Given the description of an element on the screen output the (x, y) to click on. 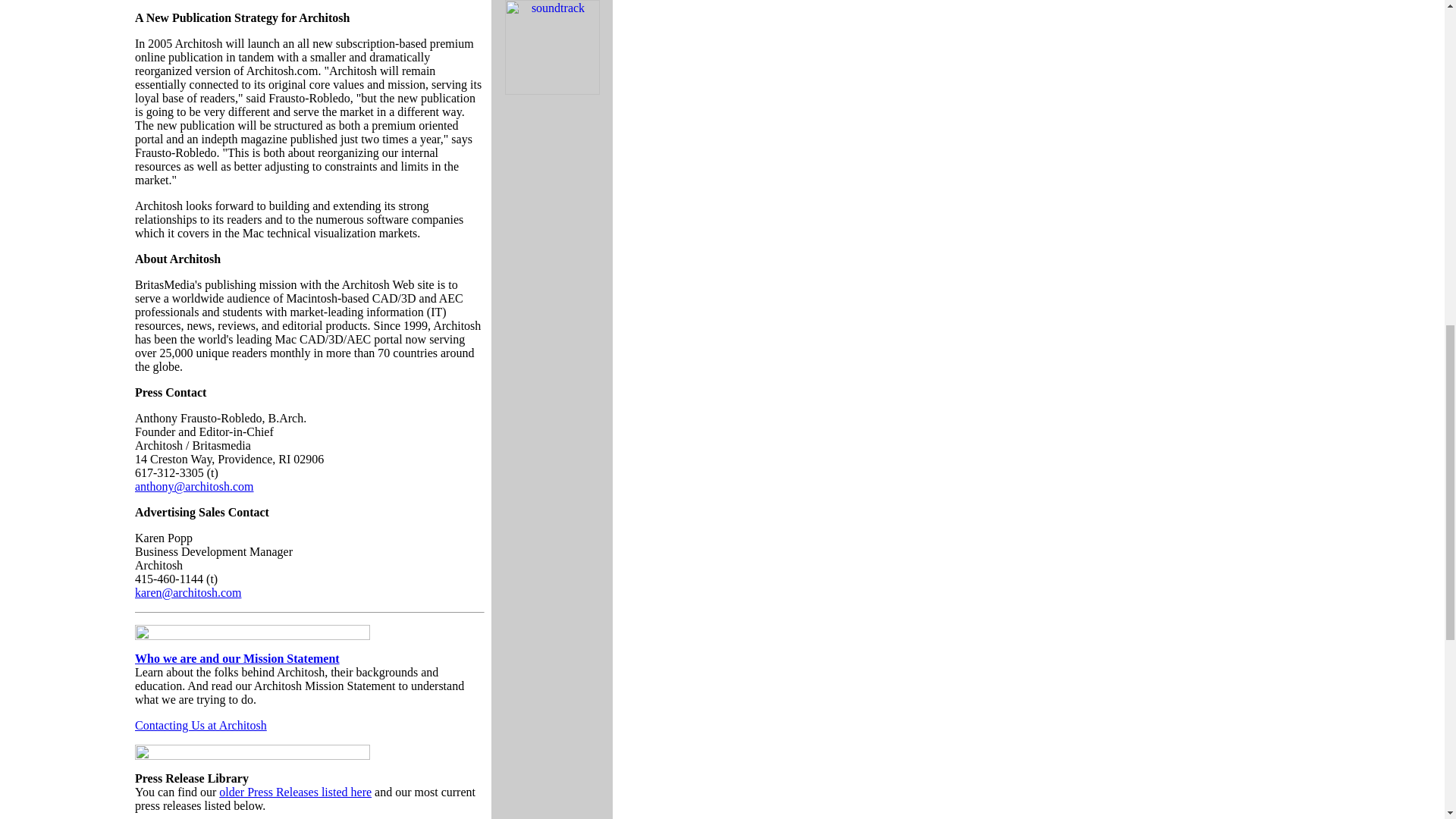
Who we are and our Mission Statement (237, 658)
Contacting Us at Architosh (200, 725)
older Press Releases listed here (295, 791)
